Given the description of an element on the screen output the (x, y) to click on. 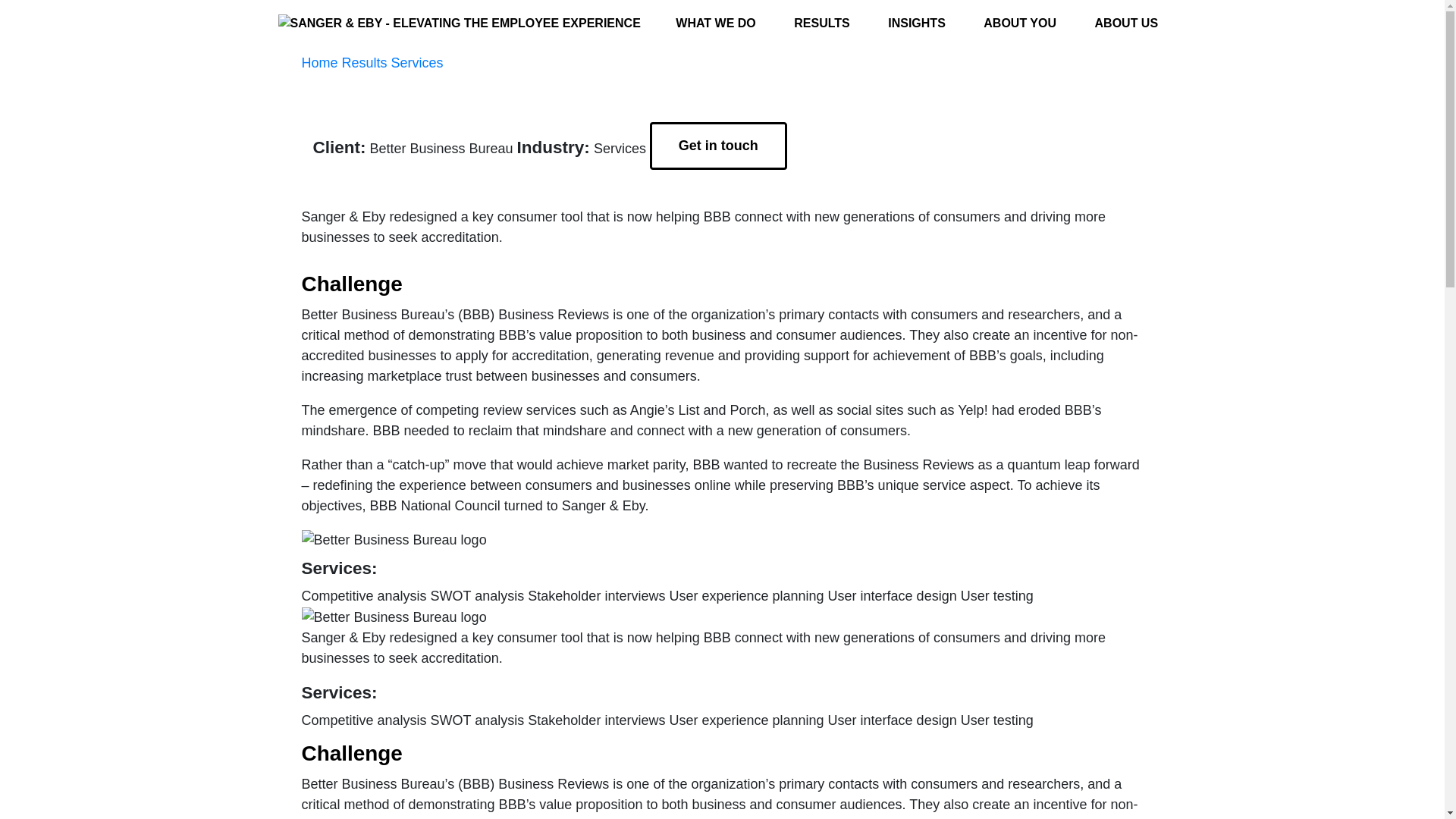
Get in touch (718, 145)
RESULTS (821, 23)
ABOUT YOU (1019, 23)
Home (319, 62)
WHAT WE DO (715, 23)
Services (417, 62)
INSIGHTS (917, 23)
ABOUT US (1126, 23)
Results (364, 62)
